Given the description of an element on the screen output the (x, y) to click on. 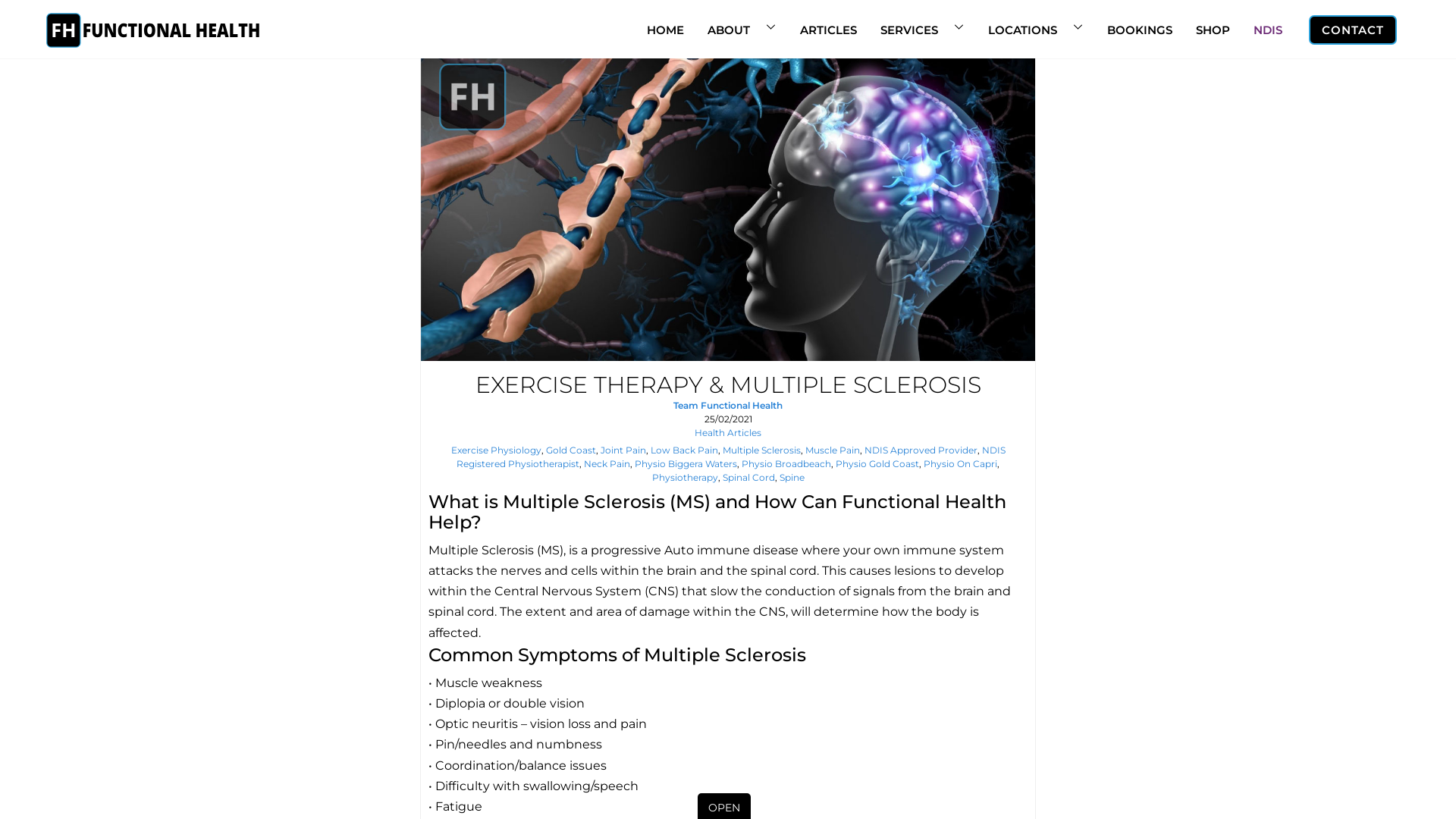
LOCATIONS Element type: text (1035, 25)
Low Back Pain Element type: text (684, 449)
SHOP Element type: text (1212, 25)
Muscle Pain Element type: text (832, 449)
Exercise-Therapy-&-Multiple-Sclerosis Element type: hover (727, 206)
ARTICLES Element type: text (828, 25)
CONTACT Element type: text (1352, 29)
BOOKINGS Element type: text (1139, 25)
Physio Gold Coast Element type: text (877, 463)
NDIS Approved Provider Element type: text (920, 449)
Spine Element type: text (791, 477)
Joint Pain Element type: text (623, 449)
Spinal Cord Element type: text (747, 477)
Exercise Physiology Element type: text (495, 449)
Functional Health LOGO 2020 Element type: hover (152, 30)
Multiple Sclerosis Element type: text (760, 449)
Team Functional Health Element type: text (727, 405)
SERVICES Element type: text (922, 25)
NDIS Registered Physiotherapist Element type: text (730, 456)
Physio Broadbeach Element type: text (786, 463)
Gold Coast Element type: text (571, 449)
Neck Pain Element type: text (606, 463)
NDIS Element type: text (1267, 25)
Health Articles Element type: text (727, 432)
Physiotherapy Element type: text (685, 477)
HOME Element type: text (665, 25)
Physio Biggera Waters Element type: text (685, 463)
ABOUT Element type: text (741, 25)
Physiotherapy Gold Coast | Functional Health Element type: hover (152, 46)
Physio On Capri Element type: text (960, 463)
